Given the description of an element on the screen output the (x, y) to click on. 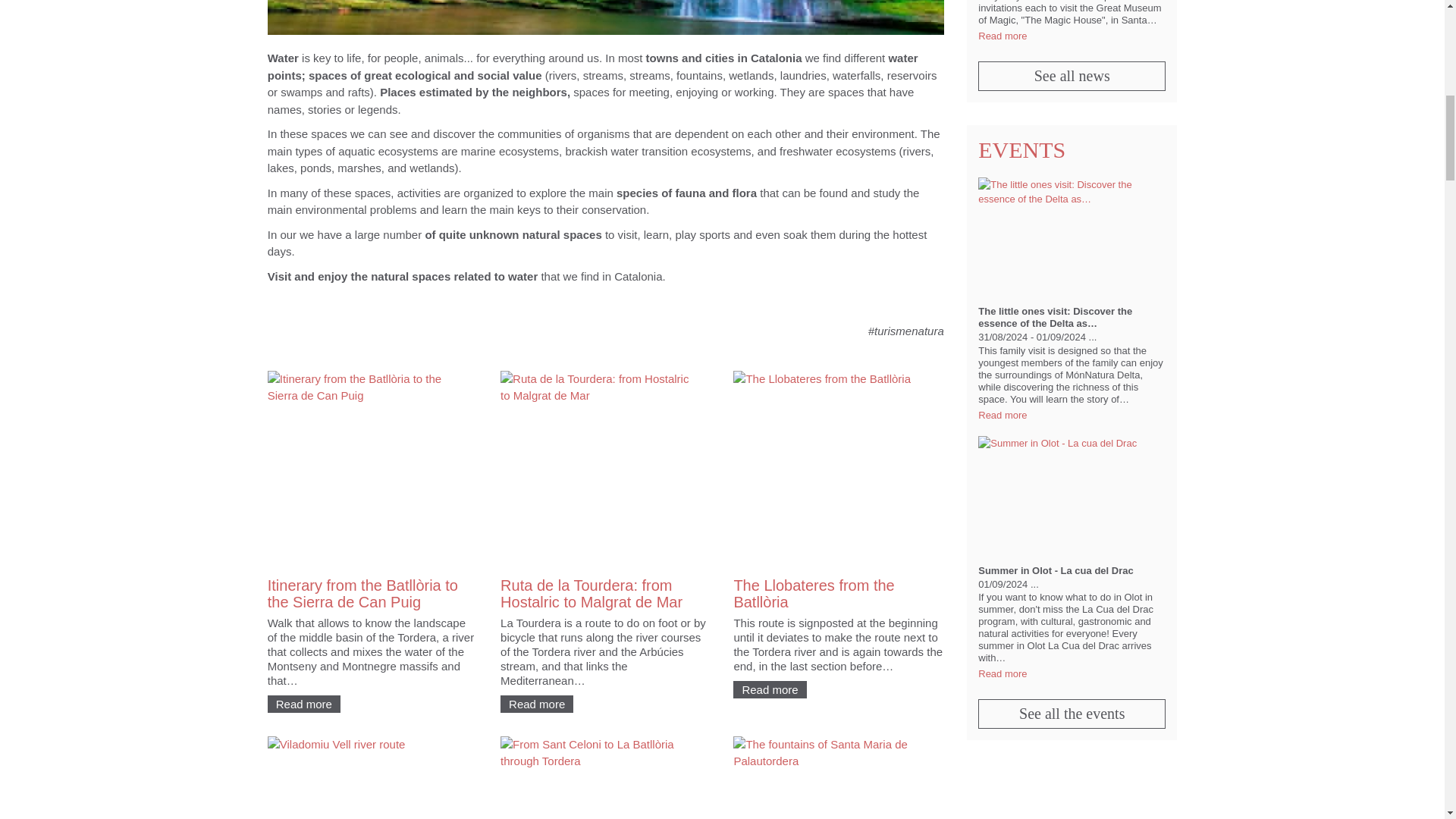
Read more (536, 703)
Ruta de la Tourdera: from Hostalric to Malgrat de Mar (591, 593)
Read more (303, 703)
